Given the description of an element on the screen output the (x, y) to click on. 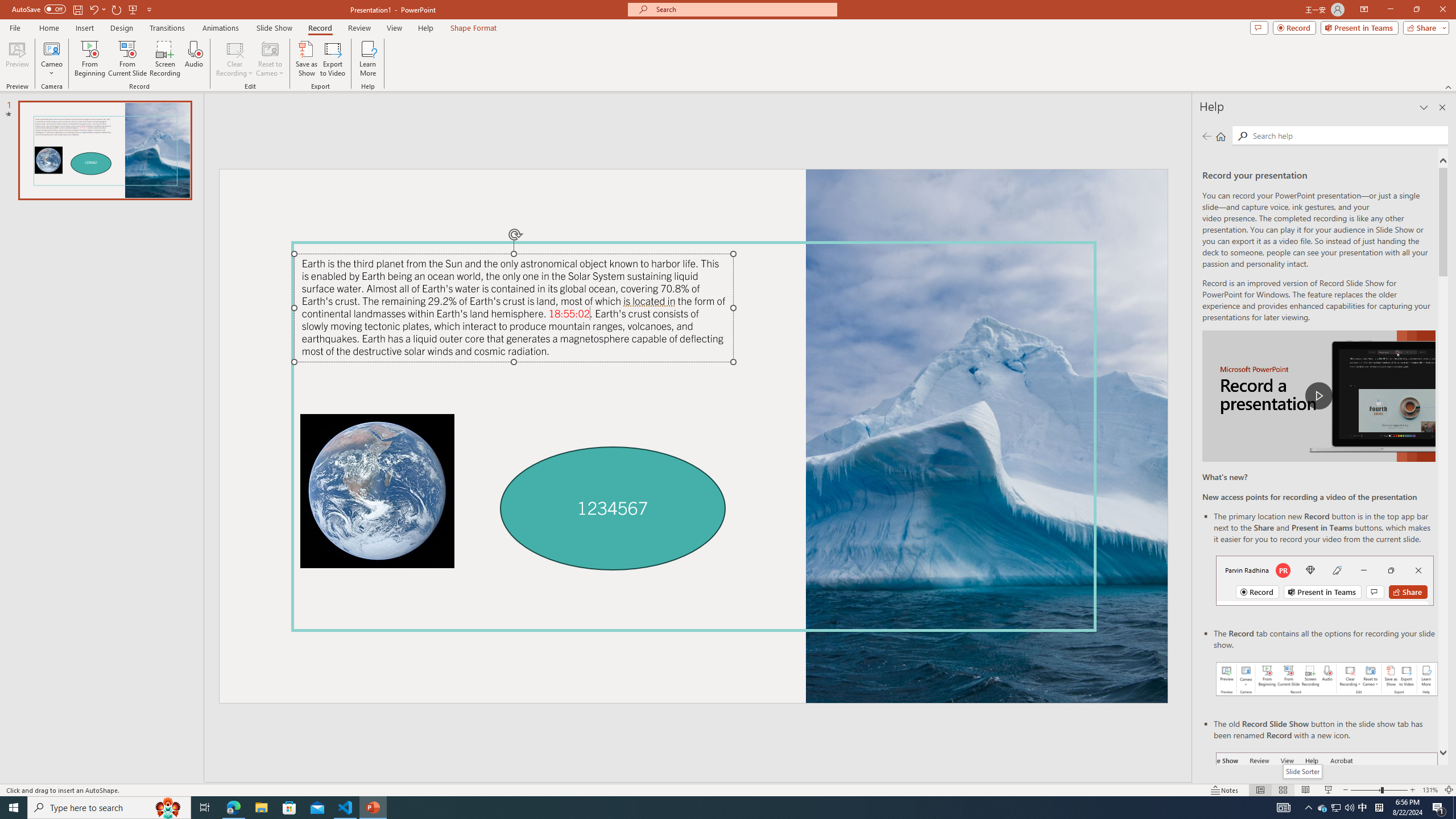
Record button in top bar (1324, 580)
